Given the description of an element on the screen output the (x, y) to click on. 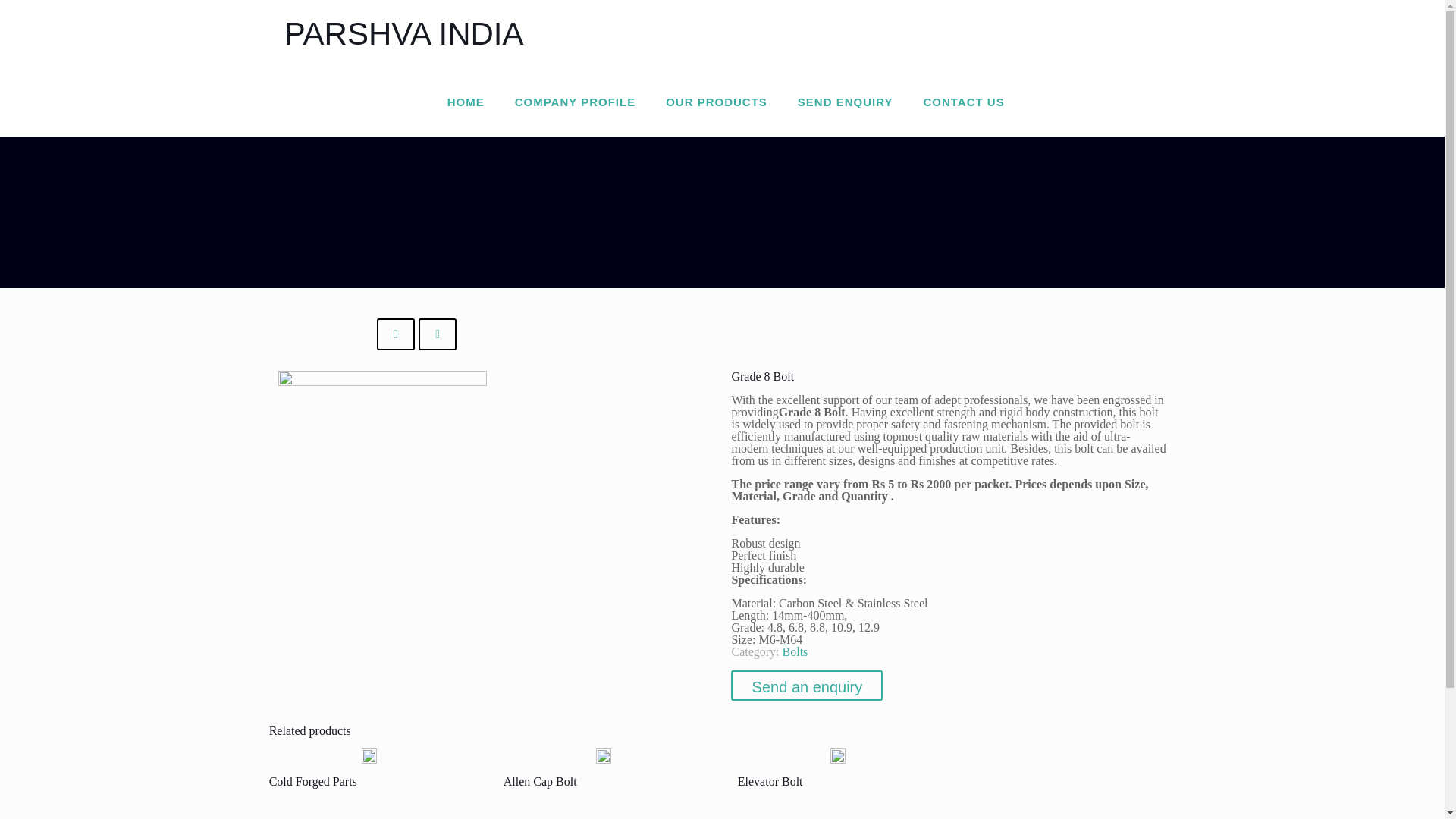
Allen Cap Bolt (539, 780)
Cold Forged Parts (312, 780)
Elevator Bolt (770, 780)
HOME (465, 101)
Parshva Engineering (403, 33)
COMPANY PROFILE (574, 101)
Bolts (795, 651)
CONTACT US (963, 101)
PARSHVA INDIA (403, 33)
OUR PRODUCTS (716, 101)
